Given the description of an element on the screen output the (x, y) to click on. 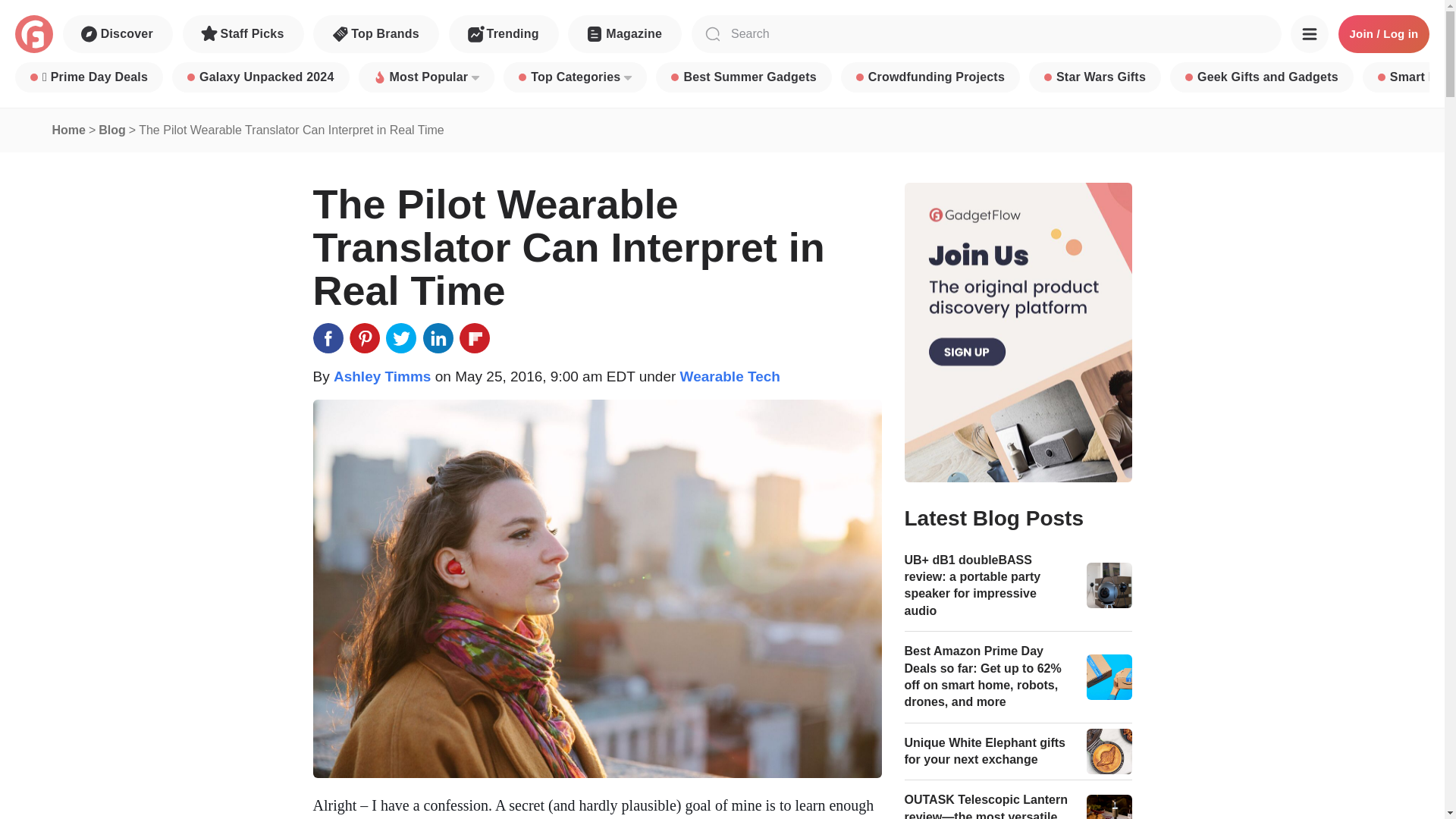
Trending (503, 34)
Staff Picks (243, 34)
Star Wars Gifts (1094, 77)
Magazine (624, 34)
Discover (117, 34)
Gadget Flow (33, 34)
Top Categories (574, 77)
Geek Gifts and Gadgets (1262, 77)
Best Summer Gadgets (743, 77)
Crowdfunding Projects (930, 77)
Galaxy Unpacked 2024 (260, 77)
Most Popular (426, 77)
Top Brands (376, 34)
